Given the description of an element on the screen output the (x, y) to click on. 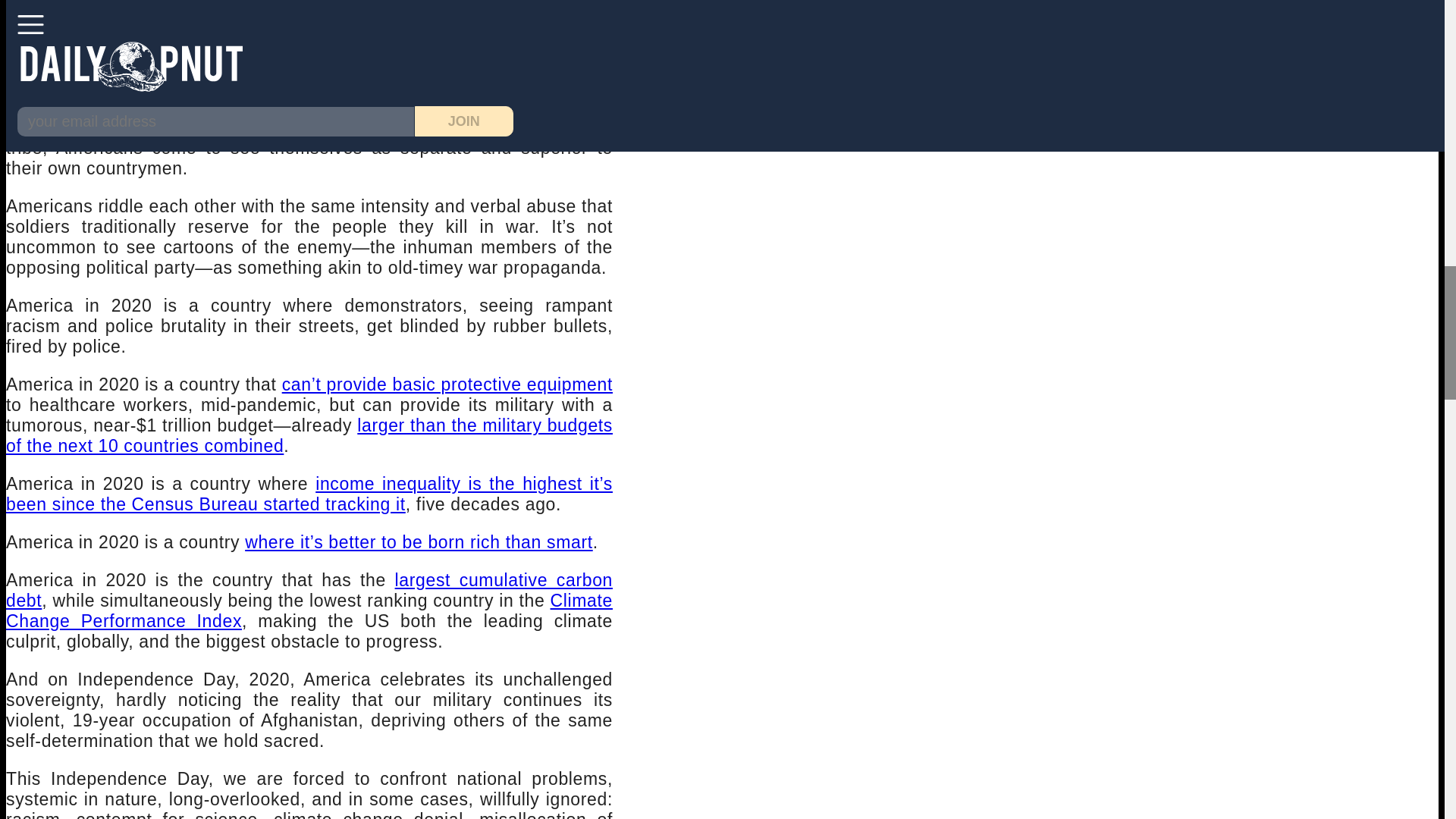
Climate Change Performance Index (308, 610)
largest cumulative carbon debt (308, 590)
